Given the description of an element on the screen output the (x, y) to click on. 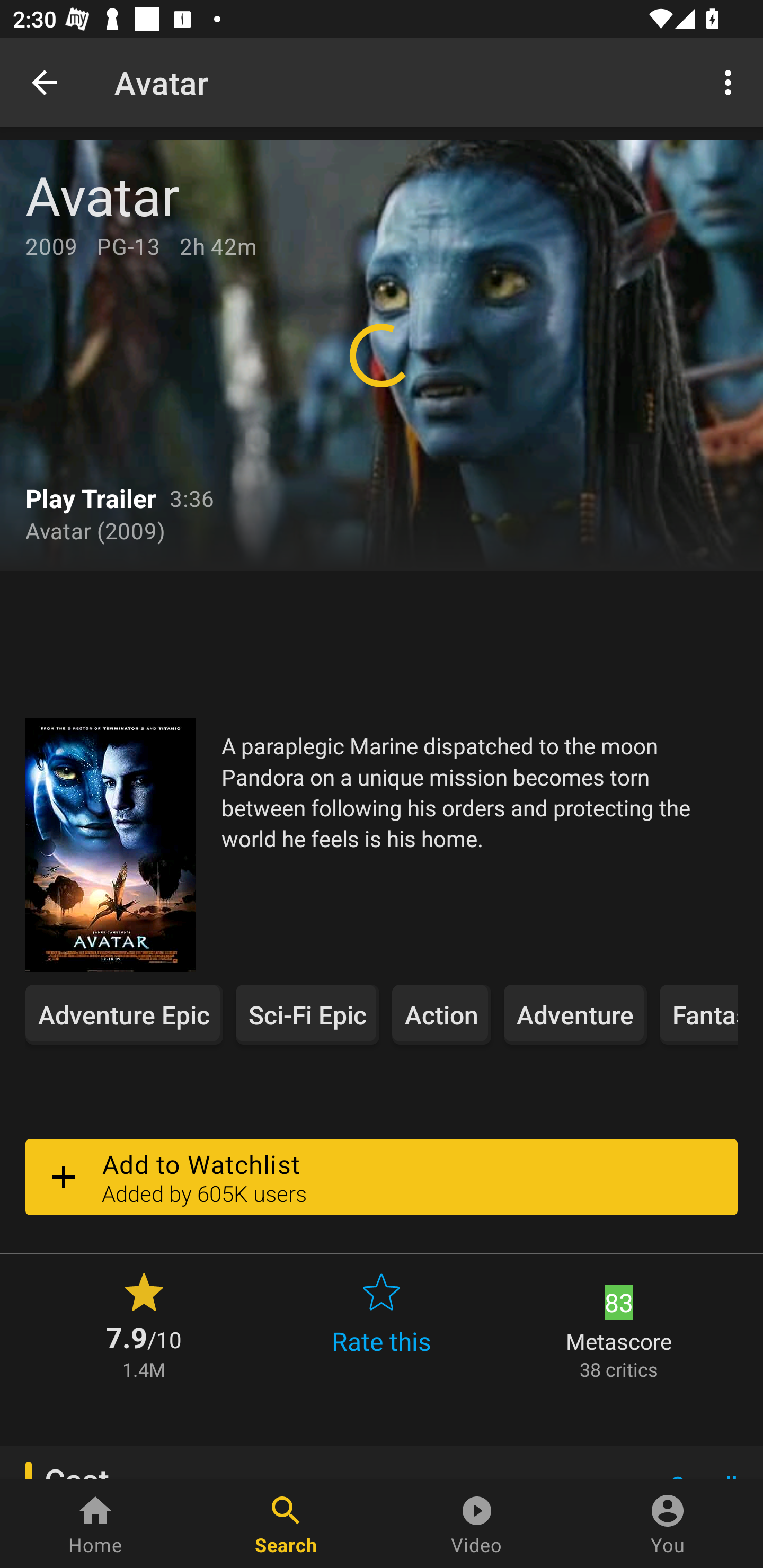
More options (731, 81)
toggle controls (381, 354)
Adventure Epic (123, 1014)
Sci-Fi Epic (307, 1014)
Action (441, 1014)
Adventure (575, 1014)
Fantasy (698, 1014)
Add to Watchlist Added by 605K users (381, 1176)
7.9 /10 1.4M (143, 1323)
Rate this (381, 1323)
83 Metascore 38 critics (618, 1323)
Home (95, 1523)
Video (476, 1523)
You (667, 1523)
